Given the description of an element on the screen output the (x, y) to click on. 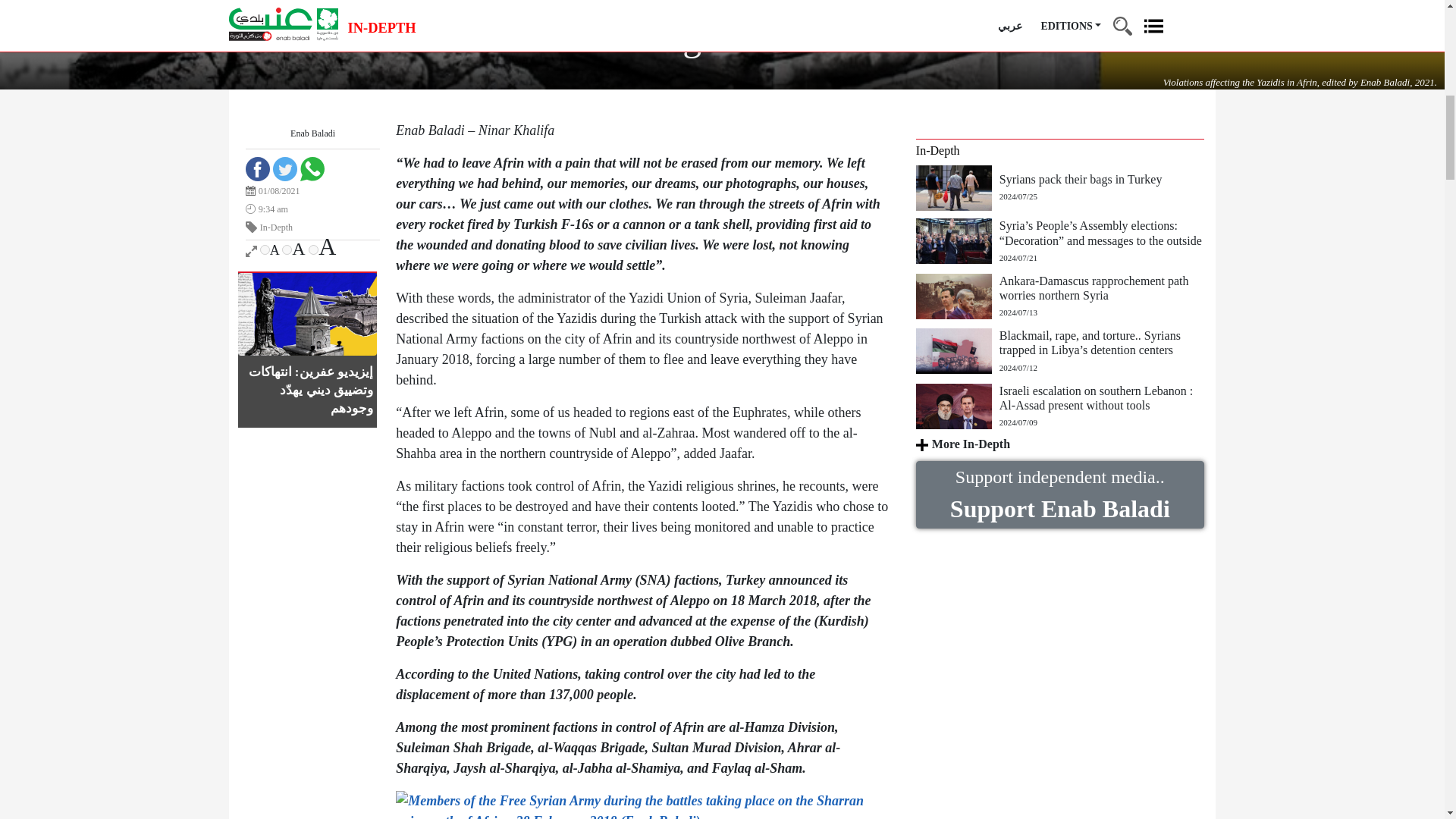
on (313, 249)
Syrians pack their bags in Turkey (956, 186)
on (264, 249)
on (287, 249)
